Given the description of an element on the screen output the (x, y) to click on. 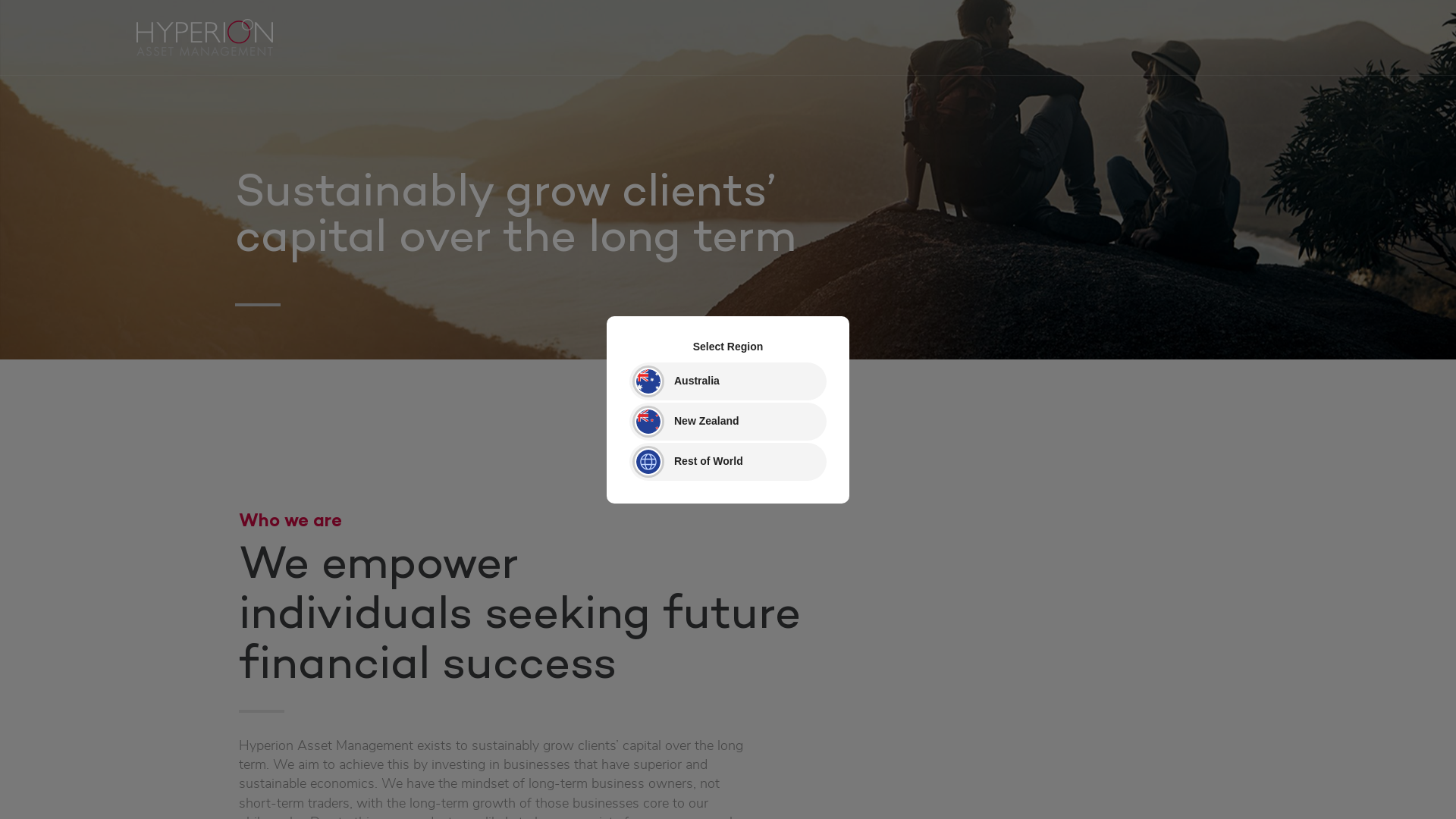
Search Element type: text (25, 9)
